Given the description of an element on the screen output the (x, y) to click on. 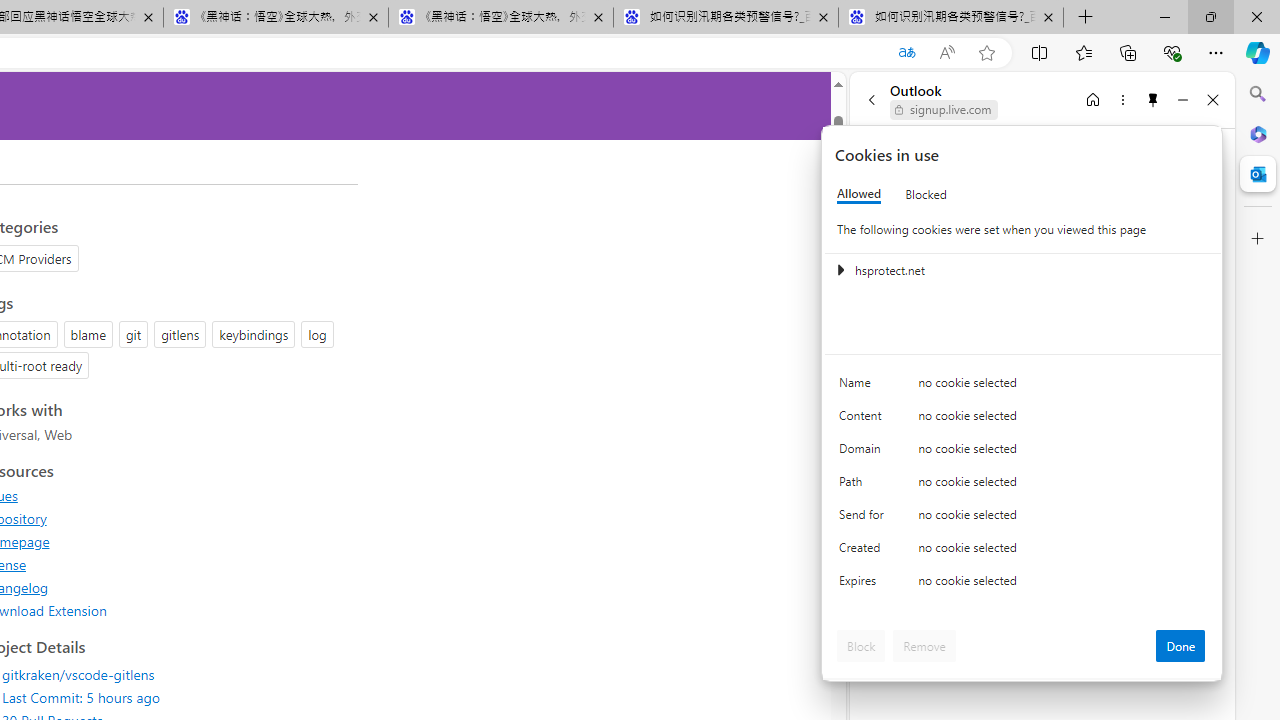
Block (861, 645)
Allowed (859, 193)
Blocked (925, 193)
Created (864, 552)
Class: c0153 c0157 c0154 (1023, 386)
Done (1179, 645)
Remove (924, 645)
Name (864, 387)
Class: c0153 c0157 (1023, 584)
Content (864, 420)
Expires (864, 585)
Path (864, 485)
no cookie selected (1062, 585)
Send for (864, 518)
Domain (864, 452)
